Given the description of an element on the screen output the (x, y) to click on. 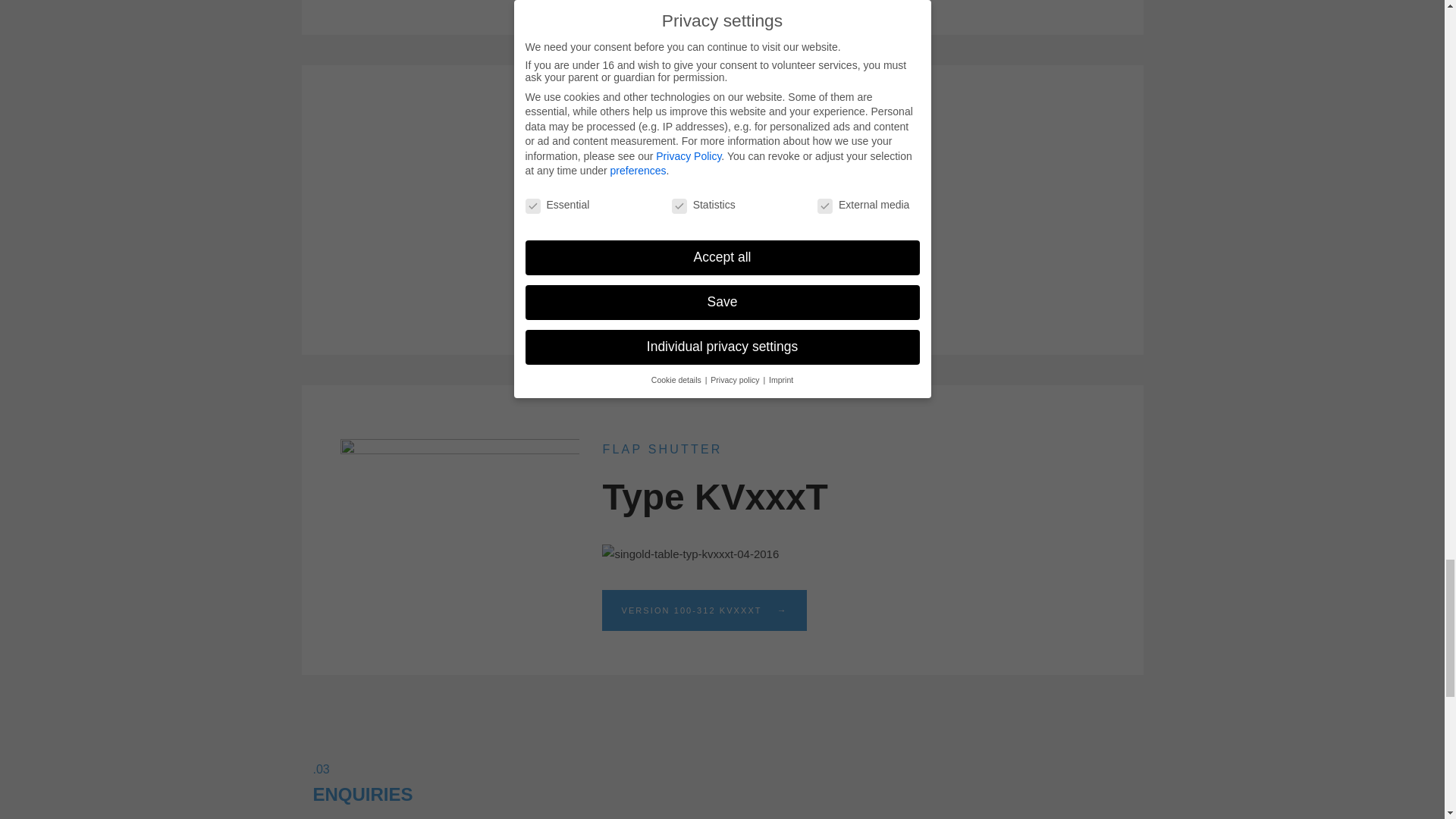
singold-table-typ-kvxxxt-04-2016 (690, 554)
singold-klappenverschluss-typ-kvxxxt (459, 516)
VERSION 100-310 KVXXXB (704, 290)
VERSION 100-312 KVXXXT (704, 609)
singold-table-typ-kvxxxb-04-2016 (691, 234)
